Given the description of an element on the screen output the (x, y) to click on. 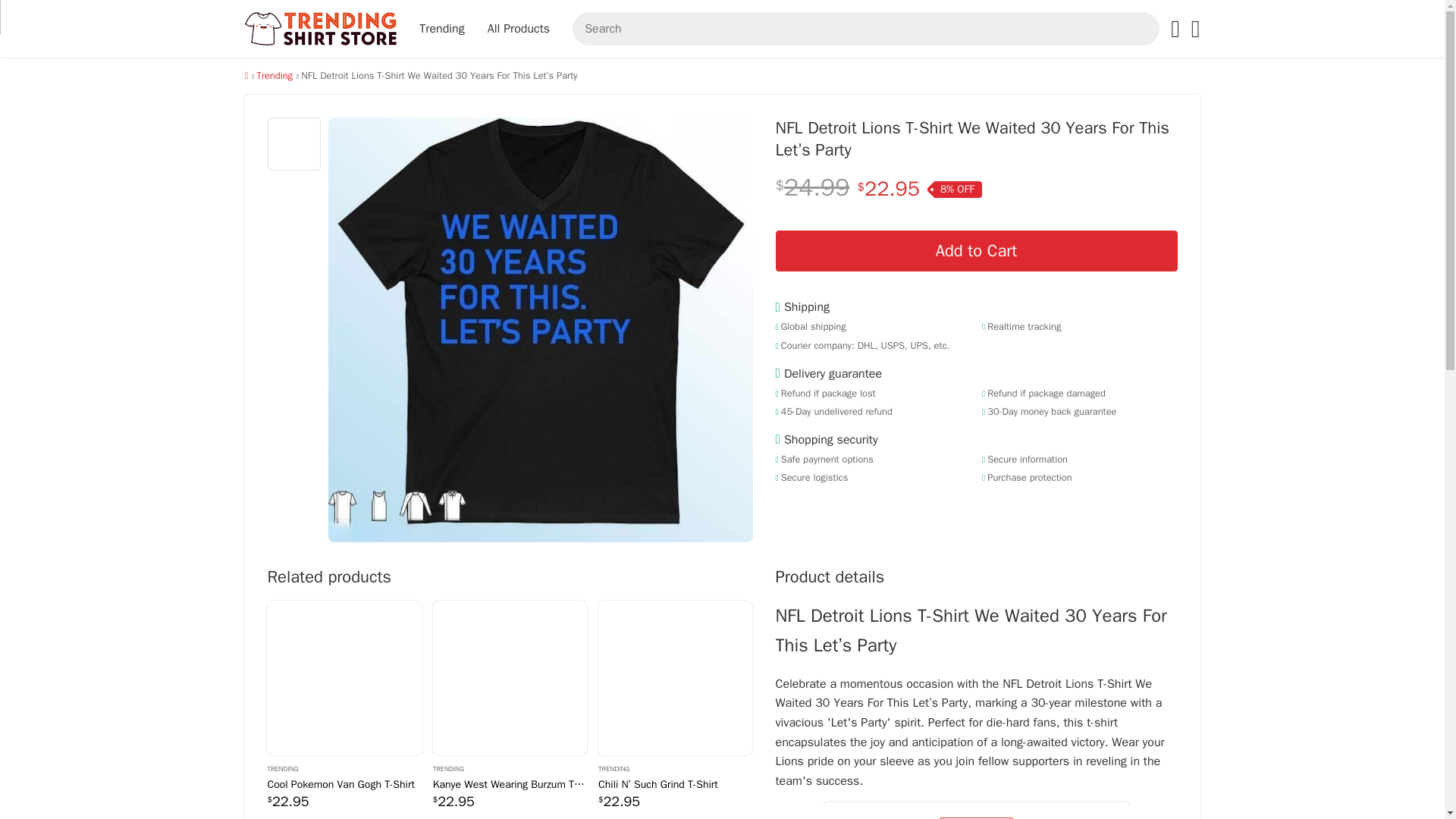
Cool Pokemon Van Gogh T-Shirt (343, 784)
All Products (518, 28)
Trending (441, 28)
Kanye West Wearing Burzum T-Shirt (509, 678)
Kanye West Wearing Burzum T-Shirt (509, 784)
Add to Cart (975, 250)
Cool Pokemon Van Gogh T-Shirt (343, 678)
Cool Pokemon Van Gogh T-Shirt (343, 784)
Kanye West Wearing Burzum T-Shirt (509, 677)
Trending (675, 767)
See all (976, 818)
Trending (343, 767)
Trending (509, 767)
Trending (274, 75)
Cool Pokemon Van Gogh T-Shirt (343, 677)
